Given the description of an element on the screen output the (x, y) to click on. 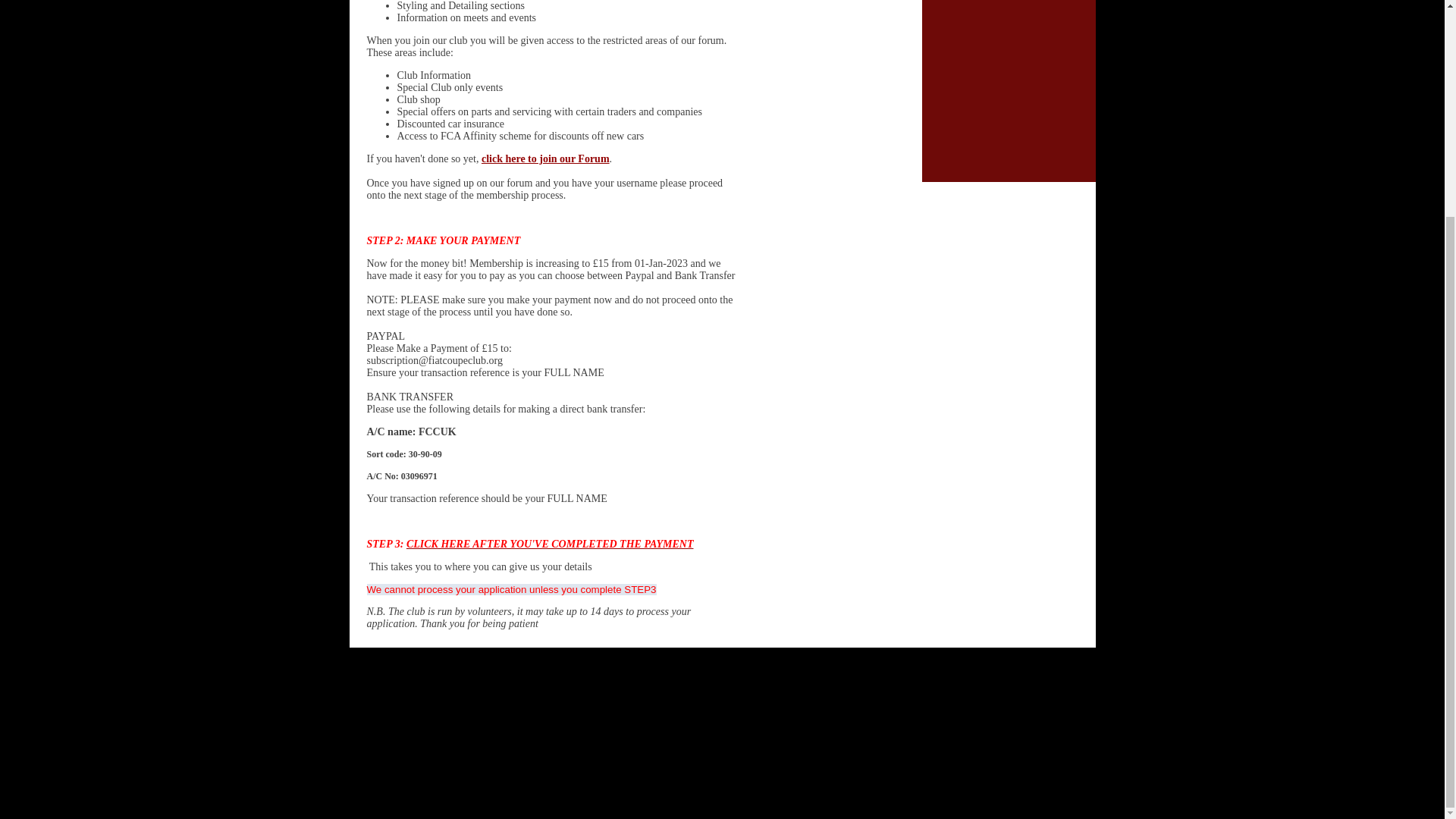
click here to join our Forum (545, 158)
CLICK HERE AFTER YOU'VE COMPLETED THE PAYMENT (550, 543)
